Given the description of an element on the screen output the (x, y) to click on. 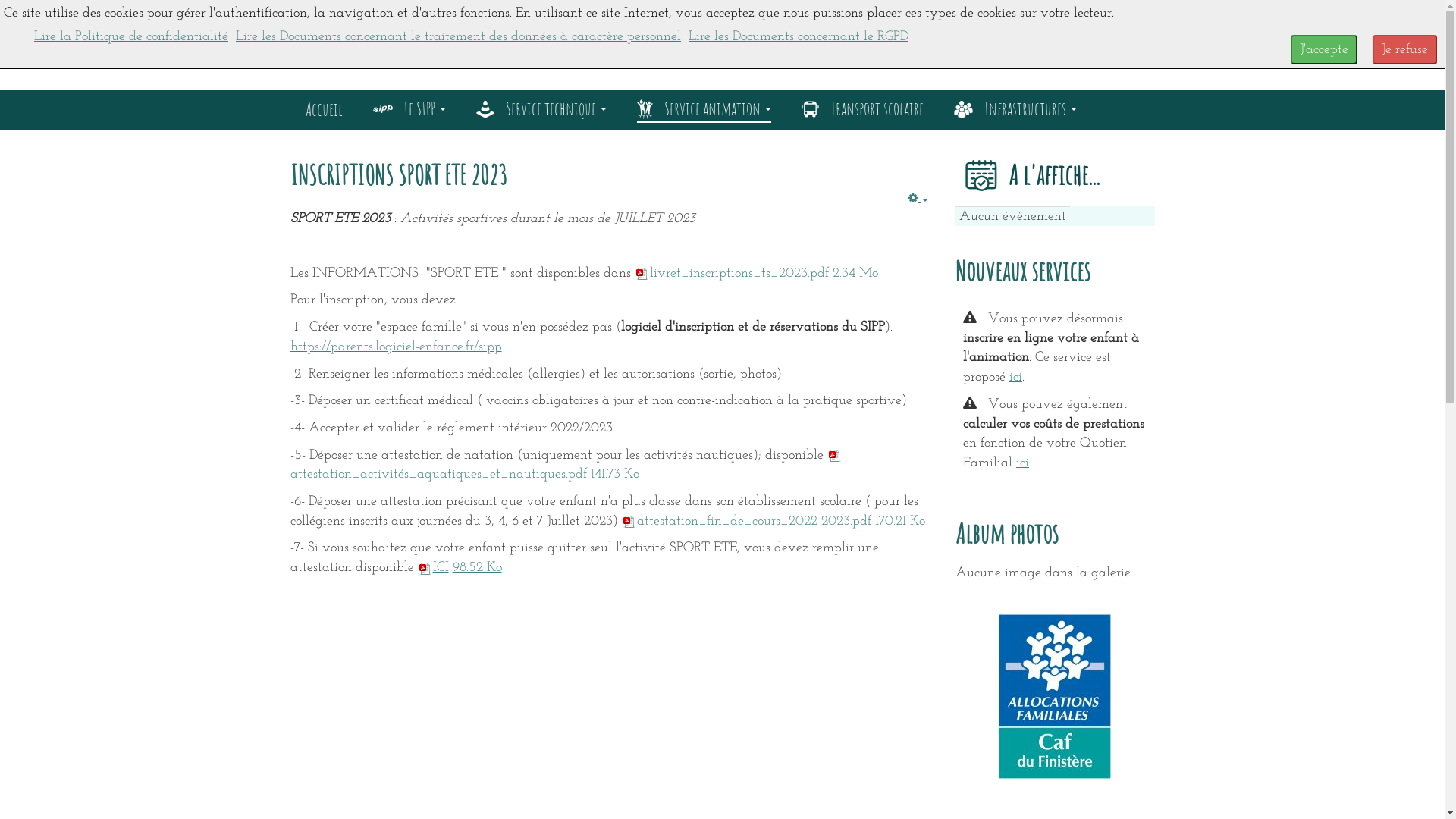
Le SIPP Element type: text (409, 105)
attestation_fin_de_cours_2022-2023.pdf170.21 Ko Element type: text (773, 521)
Lire les Documents concernant le RGPD Element type: text (798, 36)
Nous contacter Element type: text (690, 644)
Service technique Element type: text (541, 105)
SIPP Element type: hover (531, 41)
Je refuse Element type: text (1404, 49)
ici Element type: text (1022, 462)
Transport scolaire Element type: text (861, 105)
livret_inscriptions_ts_2023.pdf2.34 Mo Element type: text (755, 273)
ici Element type: text (1015, 377)
Service animation Element type: text (704, 106)
couvert Element type: hover (1090, 459)
Accueil Element type: text (323, 105)
Empty Element type: text (917, 199)
couvert Element type: hover (1115, 567)
J'accepte Element type: text (1323, 49)
ICI98.52 Ko Element type: text (459, 567)
https://parents.logiciel-enfance.fr/sipp Element type: text (395, 346)
Infrastructures Element type: text (1014, 105)
